Given the description of an element on the screen output the (x, y) to click on. 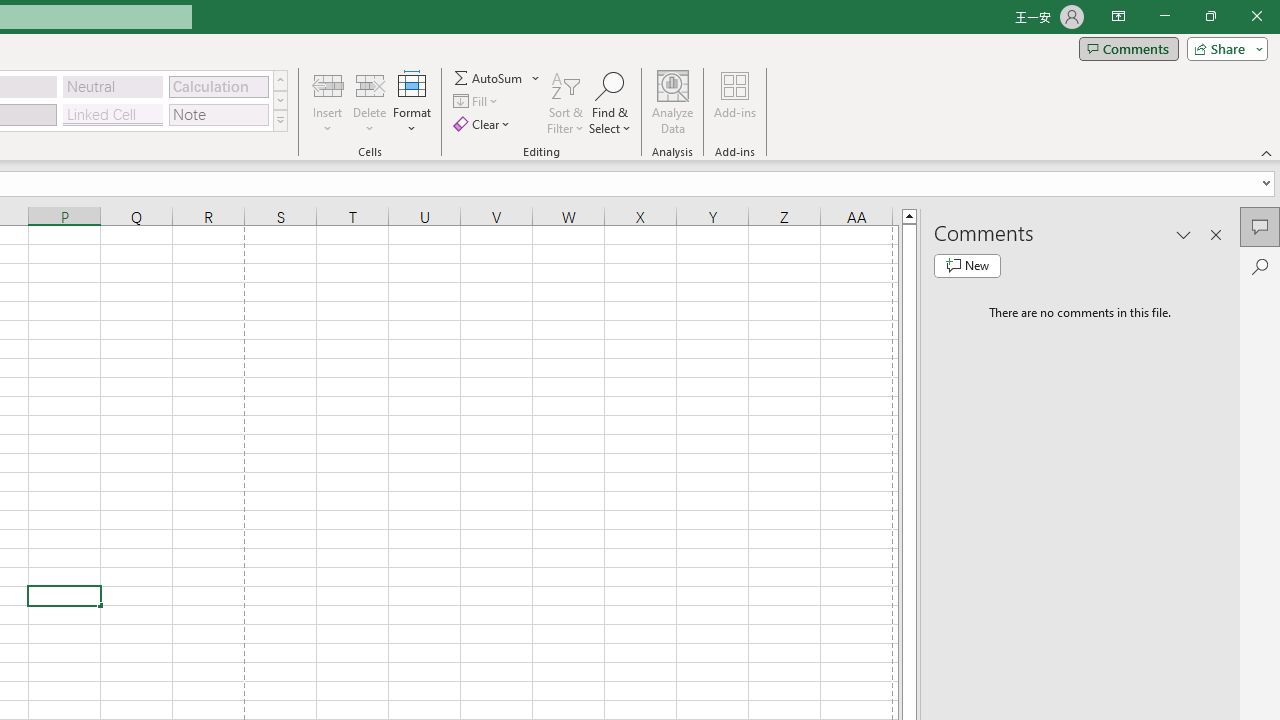
Row up (280, 79)
Close pane (1215, 234)
Sort & Filter (566, 102)
Close (1256, 16)
Find & Select (610, 102)
Format (411, 102)
Insert Cells (328, 84)
Search (1260, 266)
Cell Styles (280, 120)
Calculation (218, 86)
Task Pane Options (1183, 234)
More Options (536, 78)
Restore Down (1210, 16)
Comments (1128, 48)
